Given the description of an element on the screen output the (x, y) to click on. 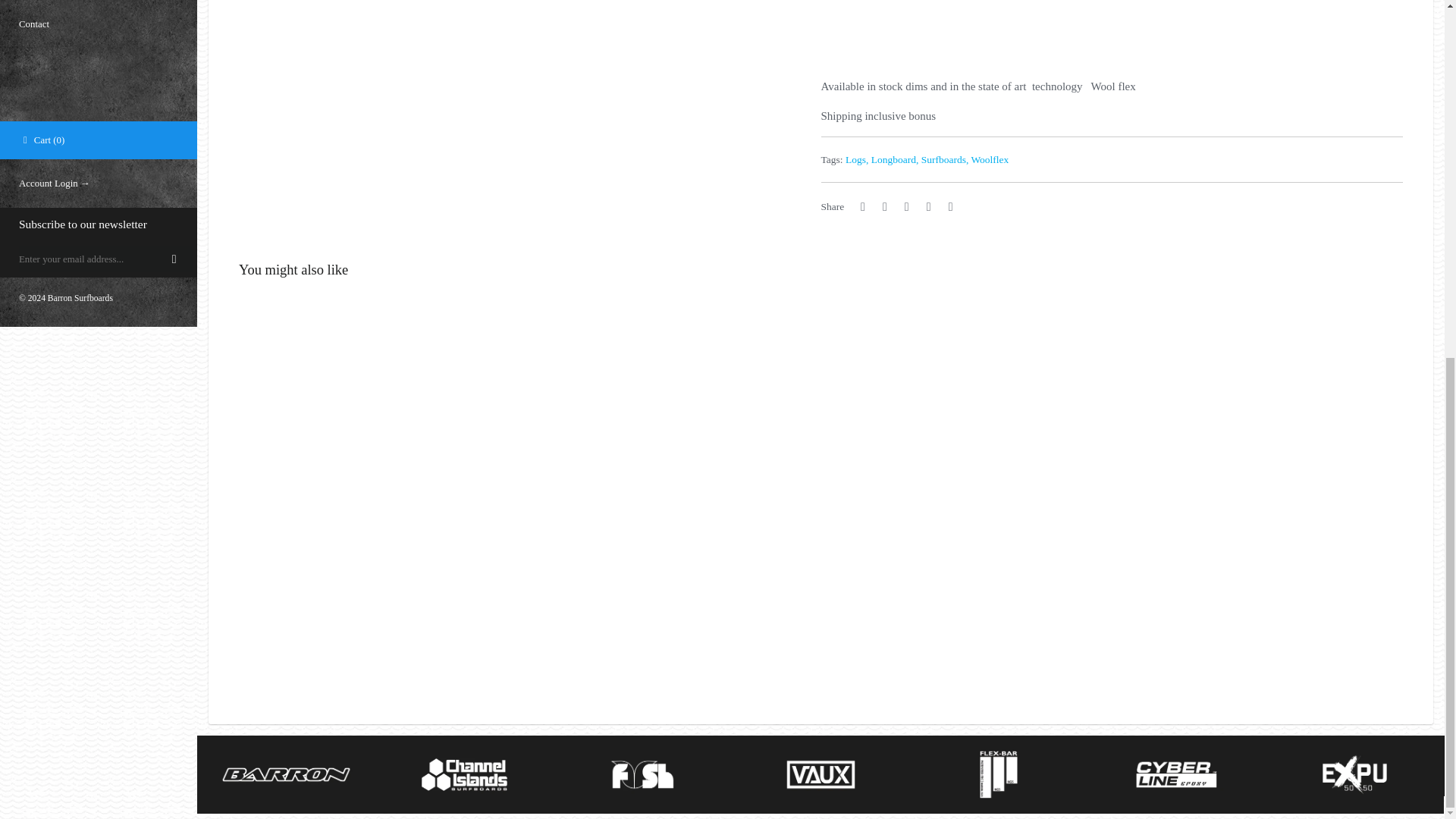
Share using email (950, 205)
Woolflex (990, 159)
Share on Facebook (863, 205)
Pin the main image (907, 205)
Contact (98, 23)
Barron Surfboards (80, 298)
Info (98, 5)
Share on Twitter (885, 205)
Logs, (856, 159)
Surfboards, (945, 159)
Longboard, (894, 159)
